Given the description of an element on the screen output the (x, y) to click on. 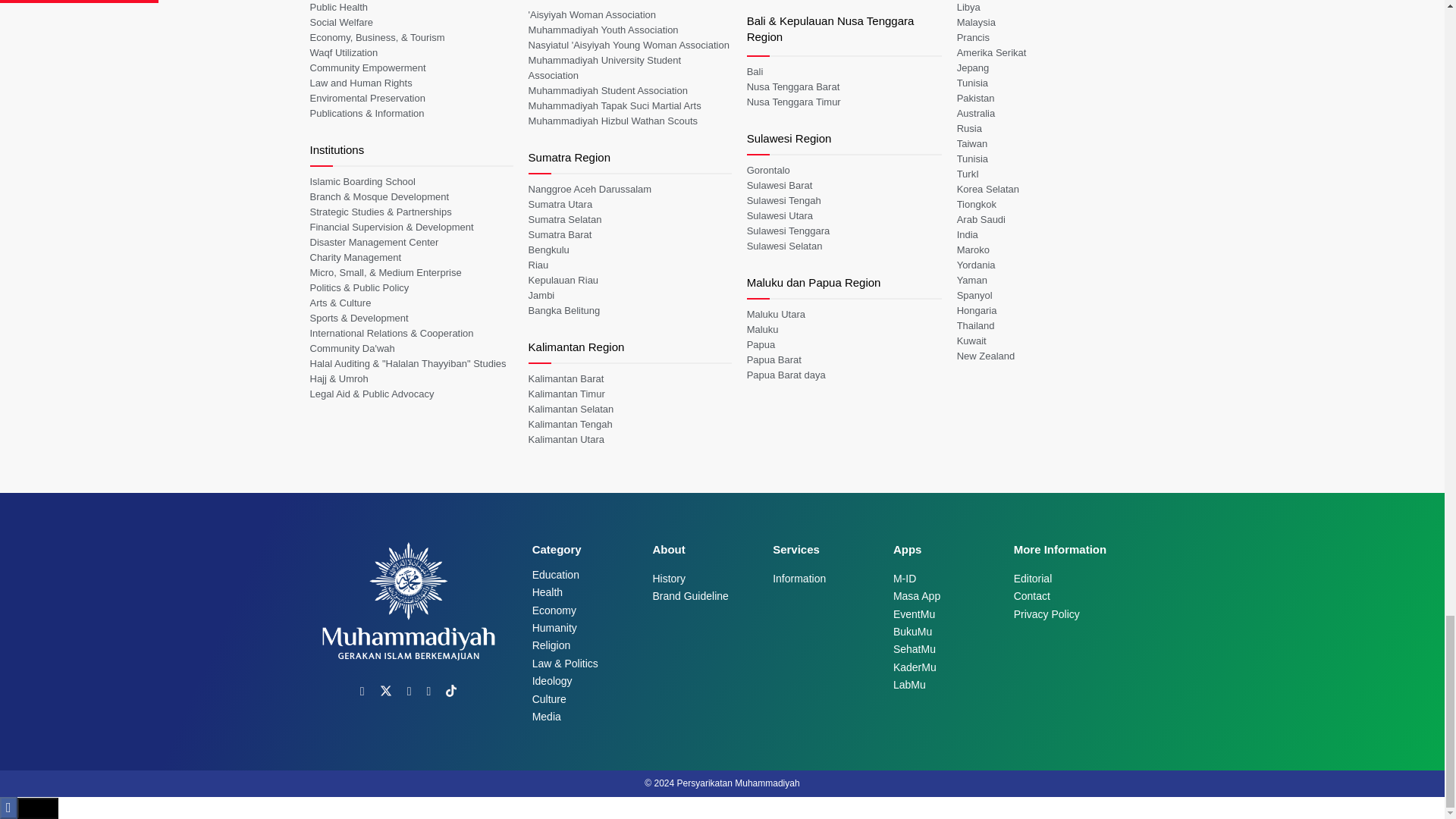
Persyarikatan Muhammadiyah (738, 783)
